Given the description of an element on the screen output the (x, y) to click on. 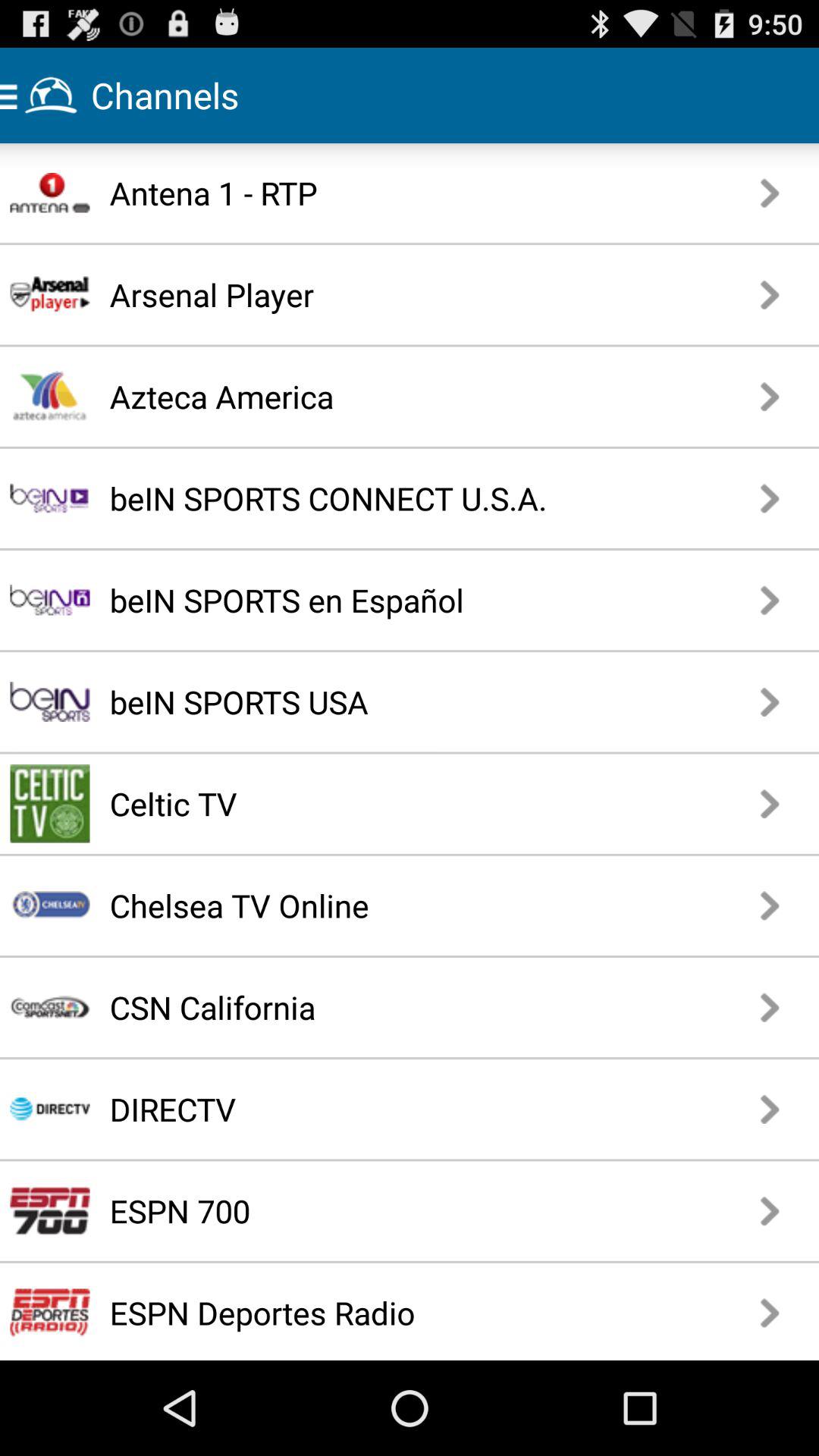
click the item below the arsenal player item (369, 396)
